Given the description of an element on the screen output the (x, y) to click on. 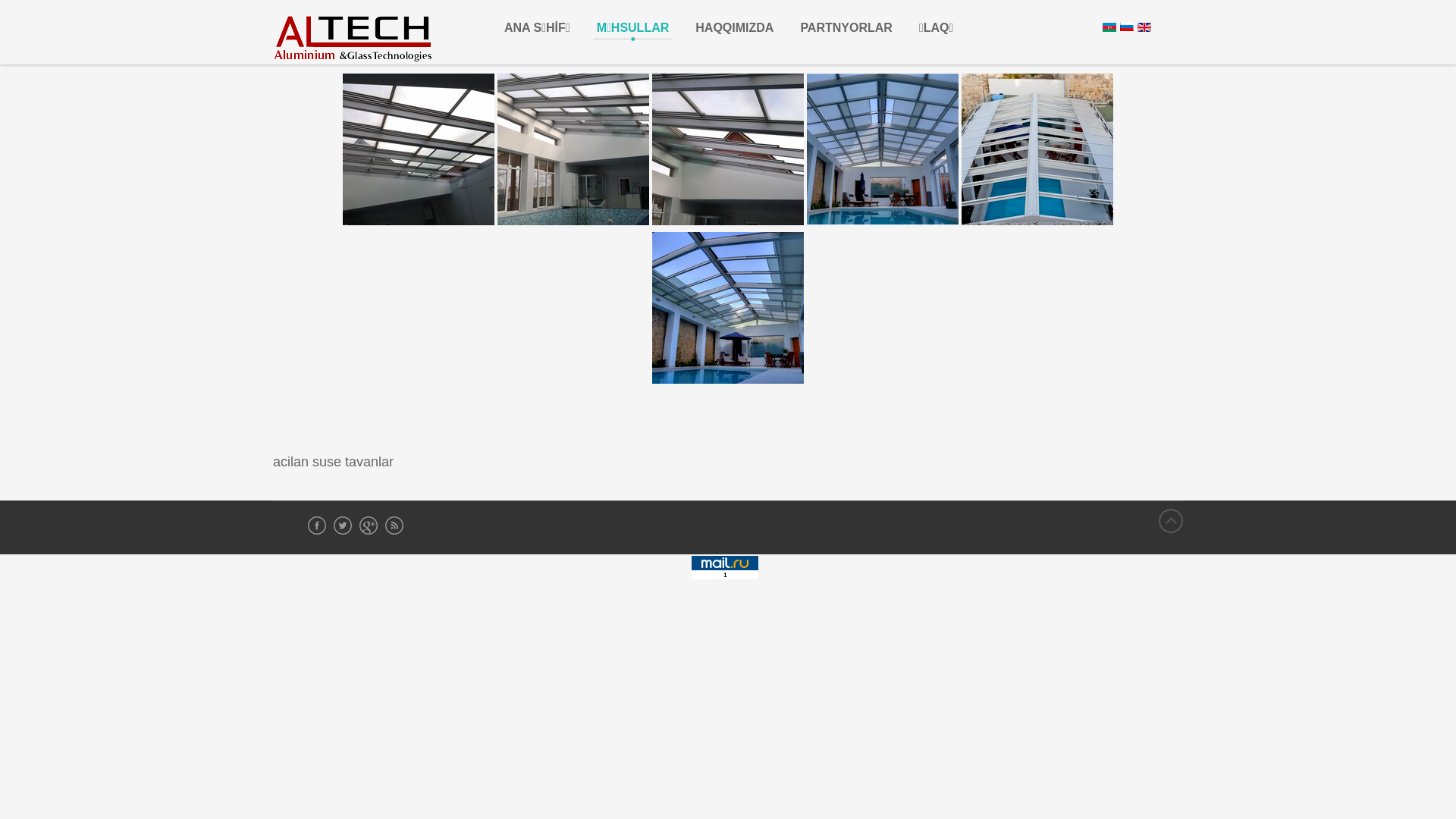
PARTNYORLAR Element type: text (845, 27)
Twitter Element type: text (342, 525)
Azerbaijanaz-AZ Element type: hover (1109, 26)
Russian Element type: hover (1126, 26)
Rss Element type: text (394, 525)
English (UK) Element type: hover (1144, 26)
HAQQIMIZDA Element type: text (734, 27)
Back to Top Element type: hover (1170, 520)
Google+ Element type: text (368, 525)
facebook Element type: text (316, 525)
